Given the description of an element on the screen output the (x, y) to click on. 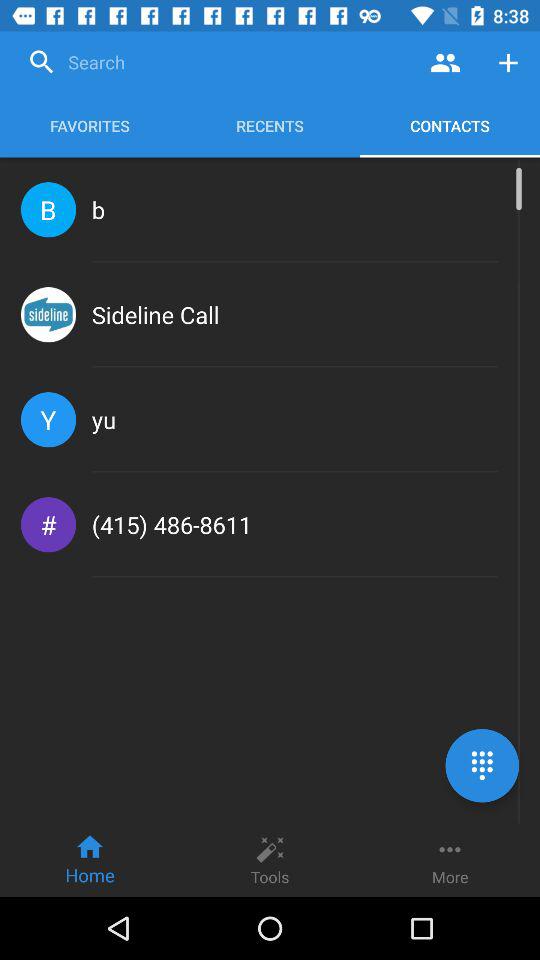
search contacts (445, 62)
